Given the description of an element on the screen output the (x, y) to click on. 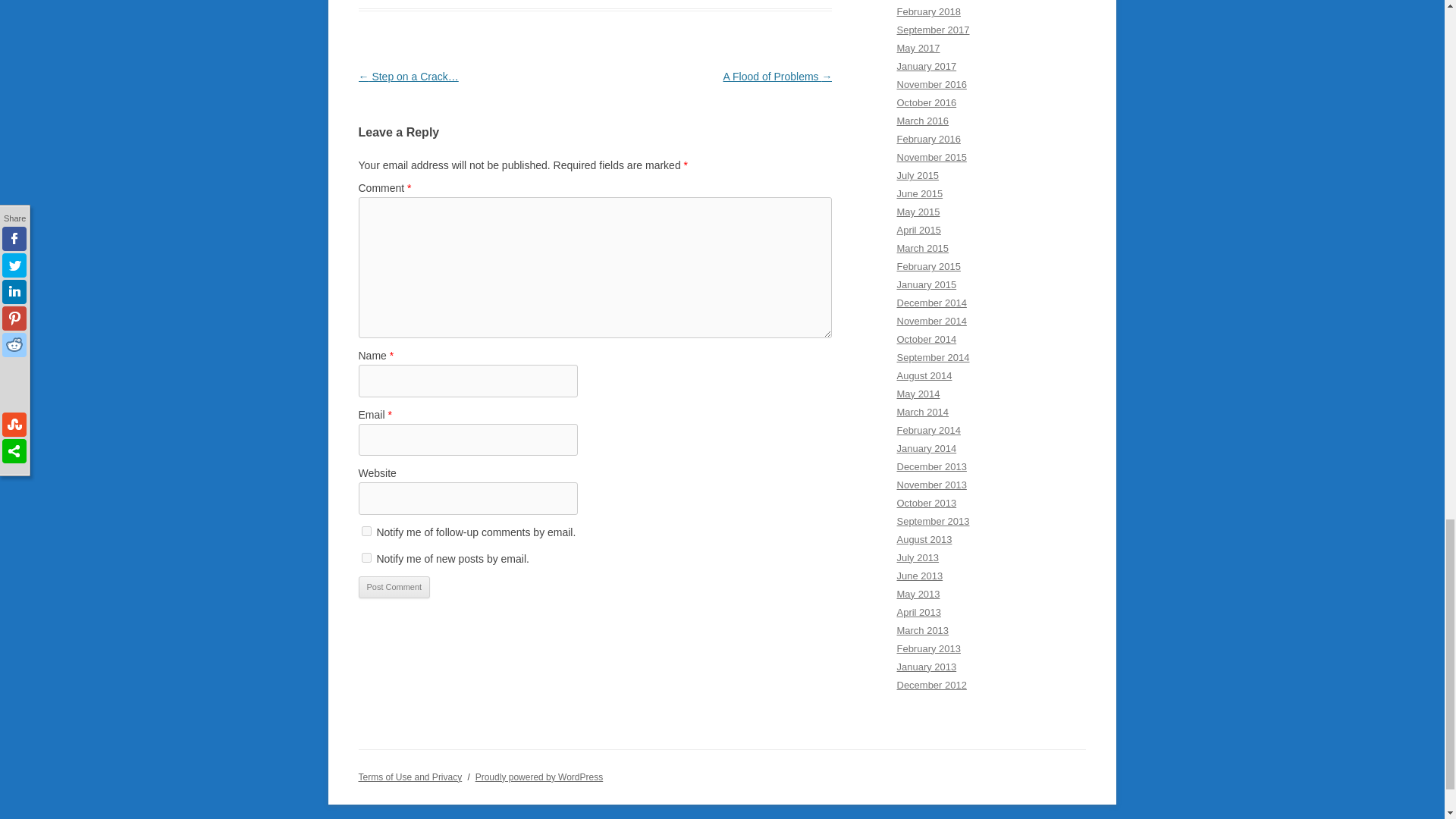
Semantic Personal Publishing Platform (540, 777)
subscribe (366, 557)
subscribe (366, 531)
Post Comment (393, 587)
Post Comment (393, 587)
